Given the description of an element on the screen output the (x, y) to click on. 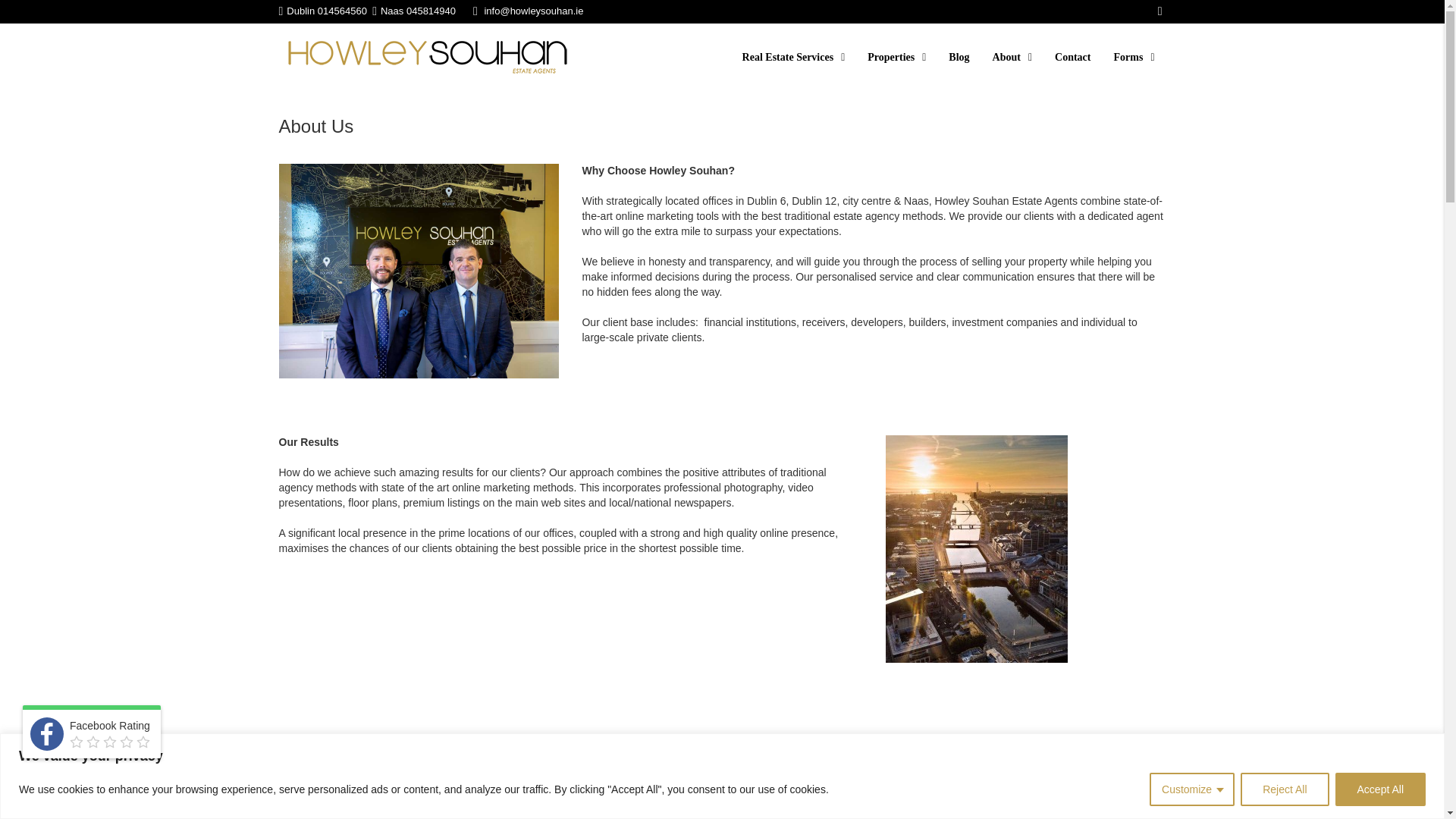
Accept All (1380, 788)
Reject All (1283, 788)
Real Estate Services (793, 57)
gavin-david-about (419, 270)
 Naas 045814940 (413, 10)
Properties (896, 57)
Customize (1192, 788)
About (1012, 57)
Dublin 014564560 (324, 10)
